Given the description of an element on the screen output the (x, y) to click on. 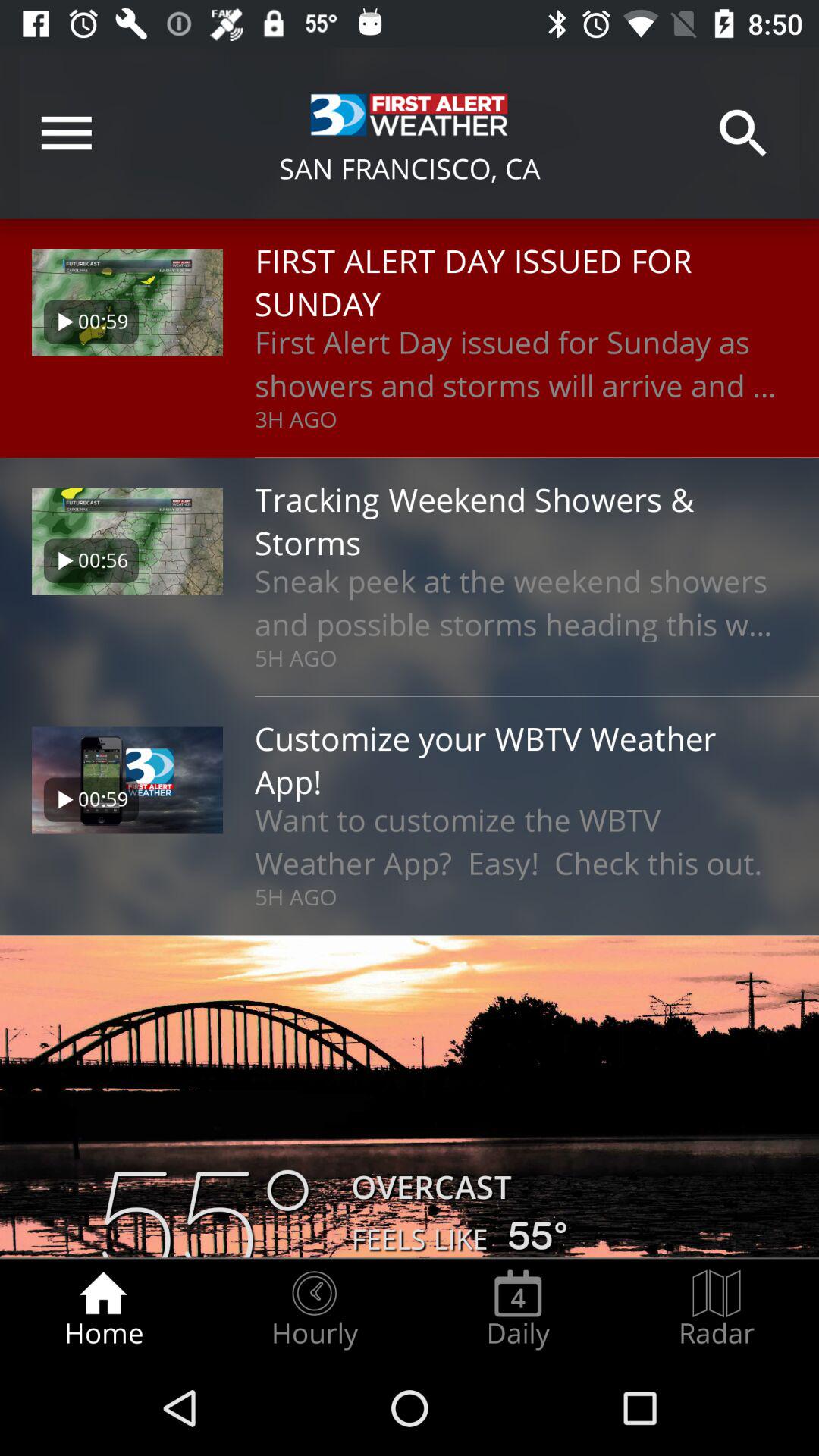
turn on radar (716, 1309)
